Given the description of an element on the screen output the (x, y) to click on. 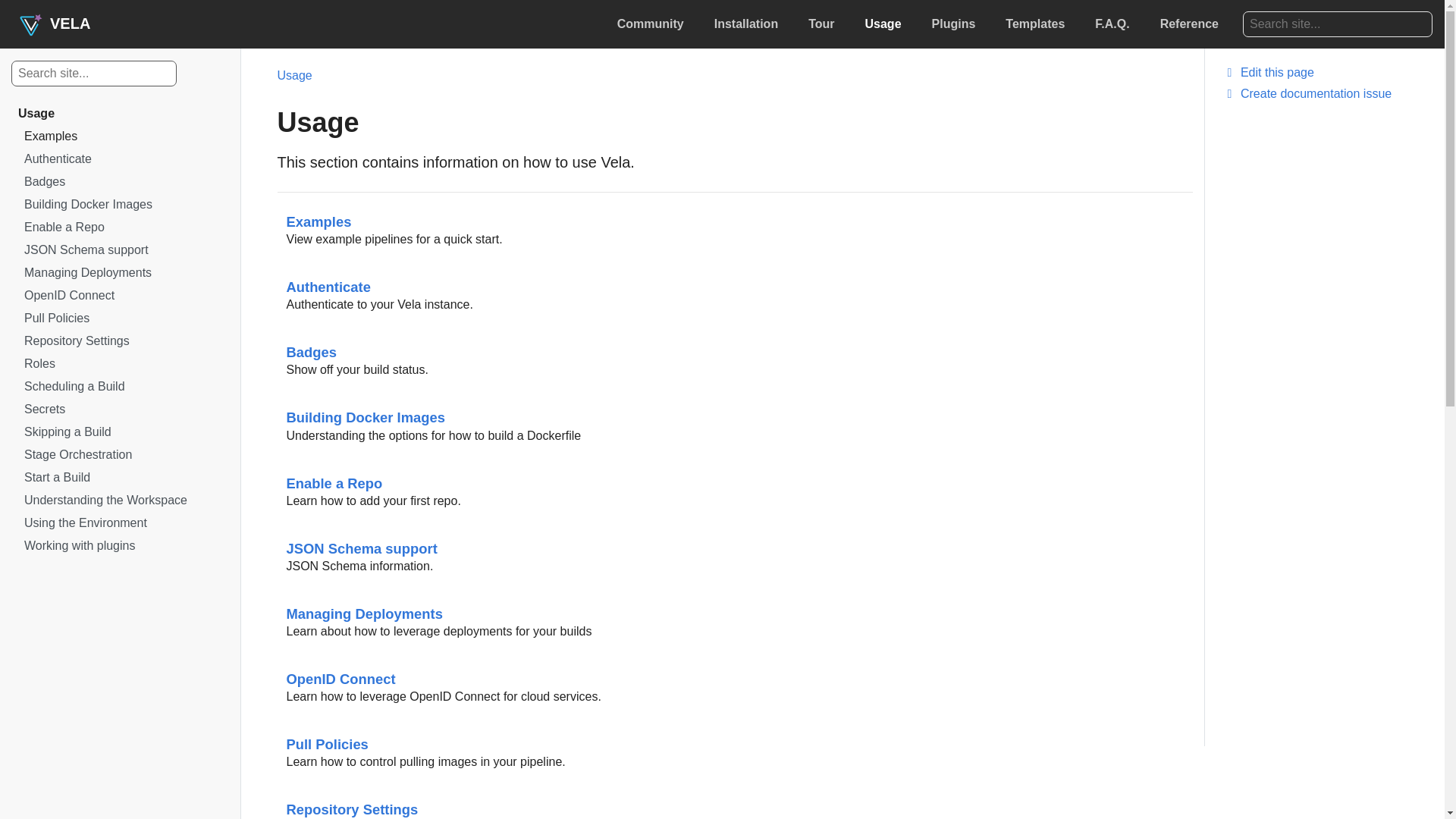
Start a Build (122, 479)
Understanding the Workspace (122, 502)
JSON Schema support (122, 251)
Using the Environment (122, 525)
Secrets (122, 411)
Enable a Repo (122, 229)
Examples (116, 138)
Badges (122, 183)
Stage Orchestration (122, 456)
Plugins (953, 24)
